Given the description of an element on the screen output the (x, y) to click on. 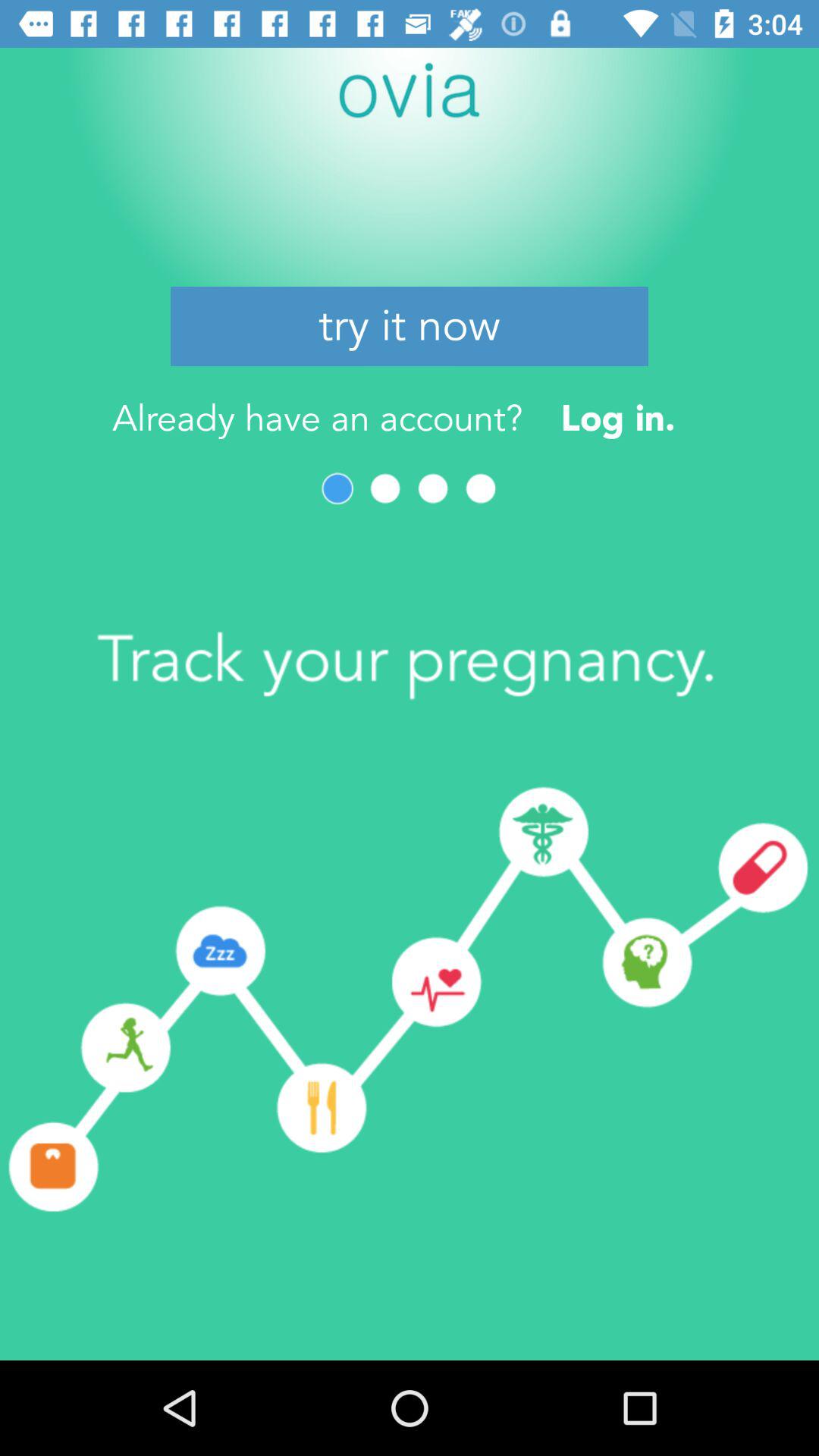
select icon below try it now icon (617, 417)
